Given the description of an element on the screen output the (x, y) to click on. 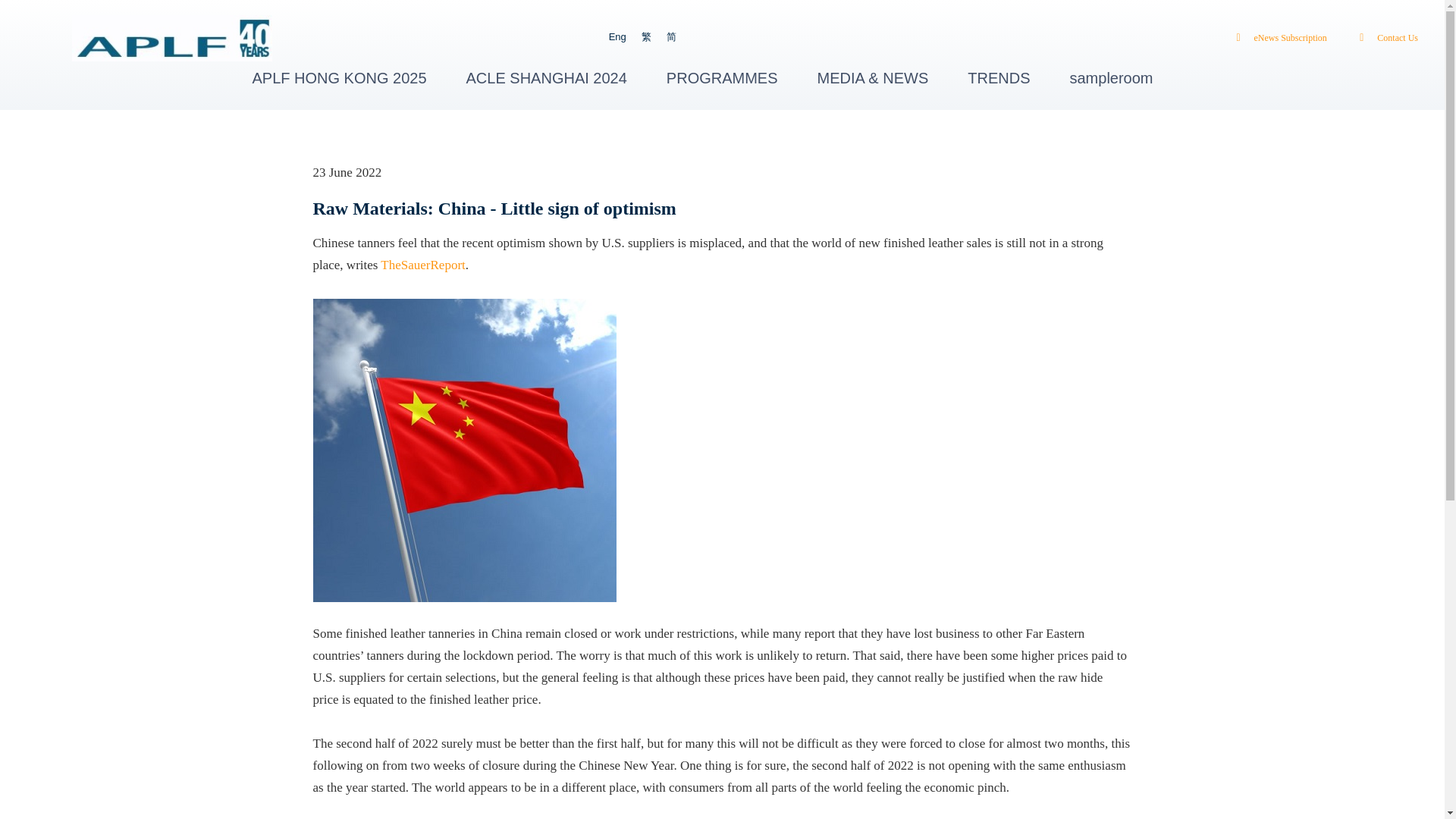
Contact Us (1384, 37)
Eng (617, 36)
APLF HONG KONG 2025 (338, 77)
eNews Subscription (1276, 37)
